Given the description of an element on the screen output the (x, y) to click on. 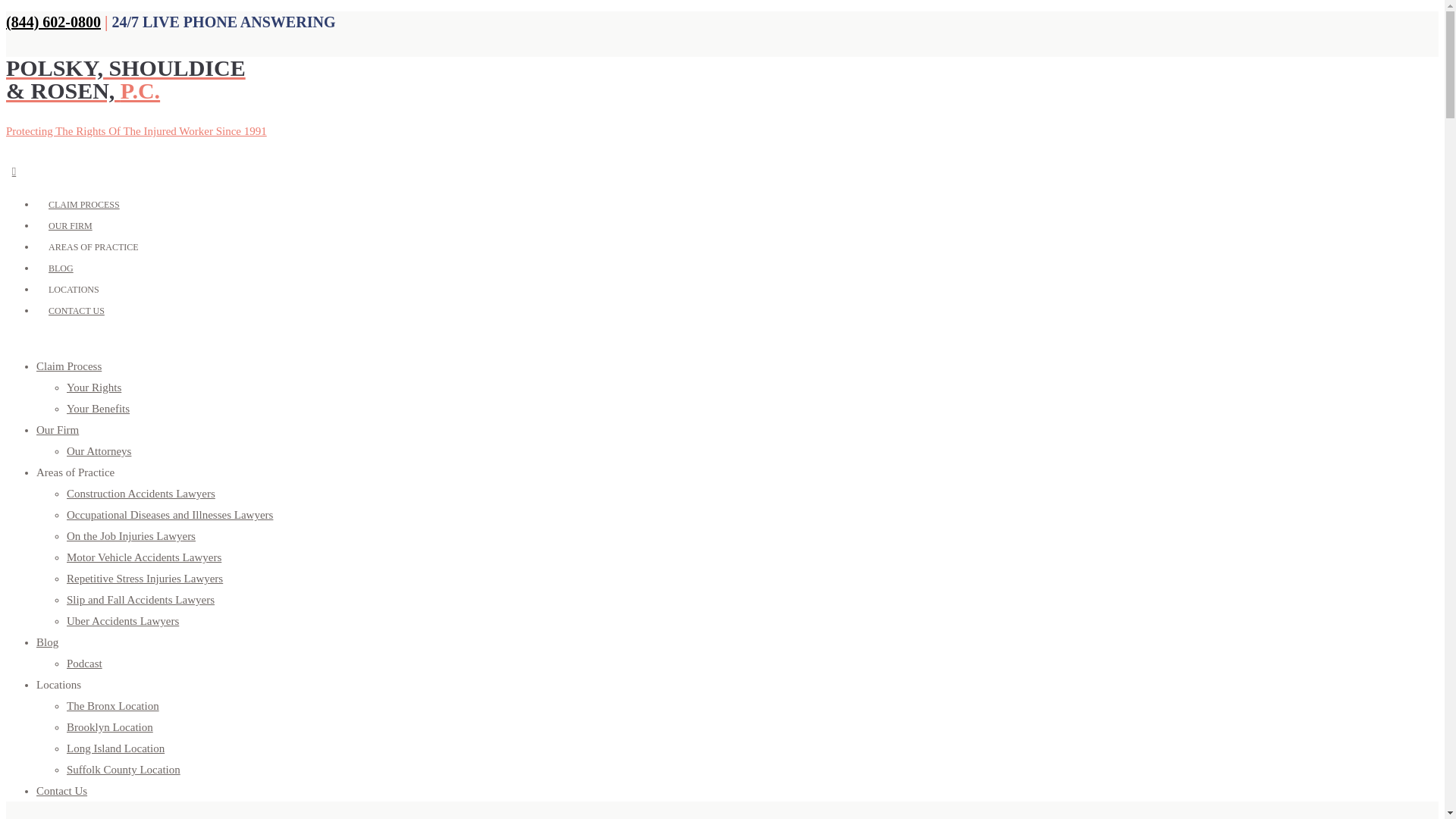
Our Firm (57, 429)
On the Job Injuries Lawyers (130, 535)
Slip and Fall Accidents Lawyers (140, 599)
Motor Vehicle Accidents Lawyers (143, 557)
LOCATIONS (74, 288)
Claim Process (68, 366)
Occupational Diseases and Illnesses Lawyers (169, 514)
Areas of Practice (75, 472)
OUR FIRM (70, 224)
CONTACT US (76, 309)
Your Rights (93, 387)
Our Attorneys (98, 451)
Uber Accidents Lawyers (122, 621)
Repetitive Stress Injuries Lawyers (144, 578)
CLAIM PROCESS (84, 203)
